Given the description of an element on the screen output the (x, y) to click on. 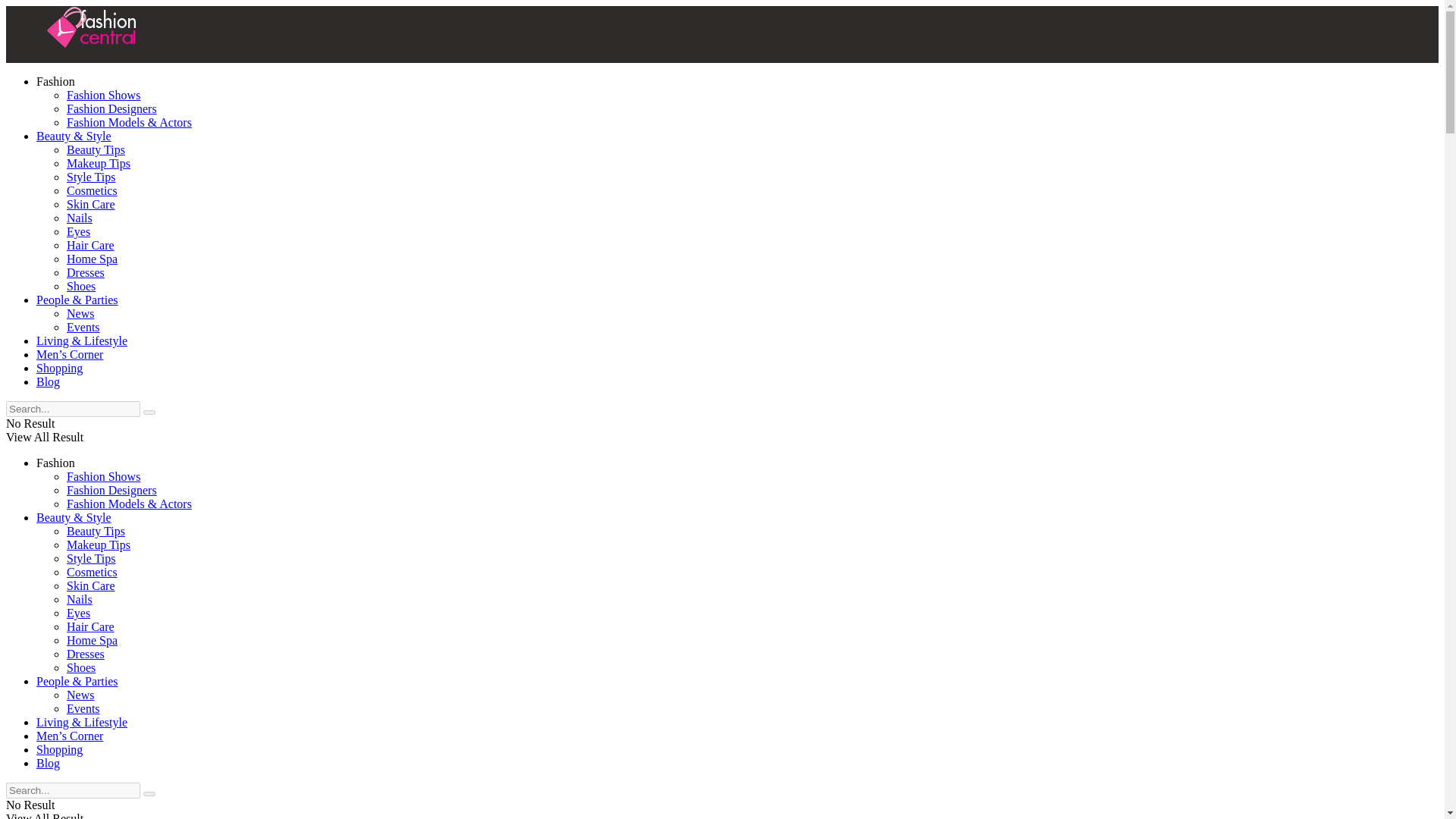
Fashion (55, 462)
Blog (47, 381)
Beauty Tips (95, 530)
News (80, 313)
Dresses (85, 272)
Fashion (55, 81)
Shopping (59, 367)
Fashion Shows (102, 476)
Style Tips (90, 176)
Makeup Tips (98, 544)
Home Spa (91, 258)
Cosmetics (91, 190)
Makeup Tips (98, 163)
Events (83, 327)
Skin Care (90, 204)
